Given the description of an element on the screen output the (x, y) to click on. 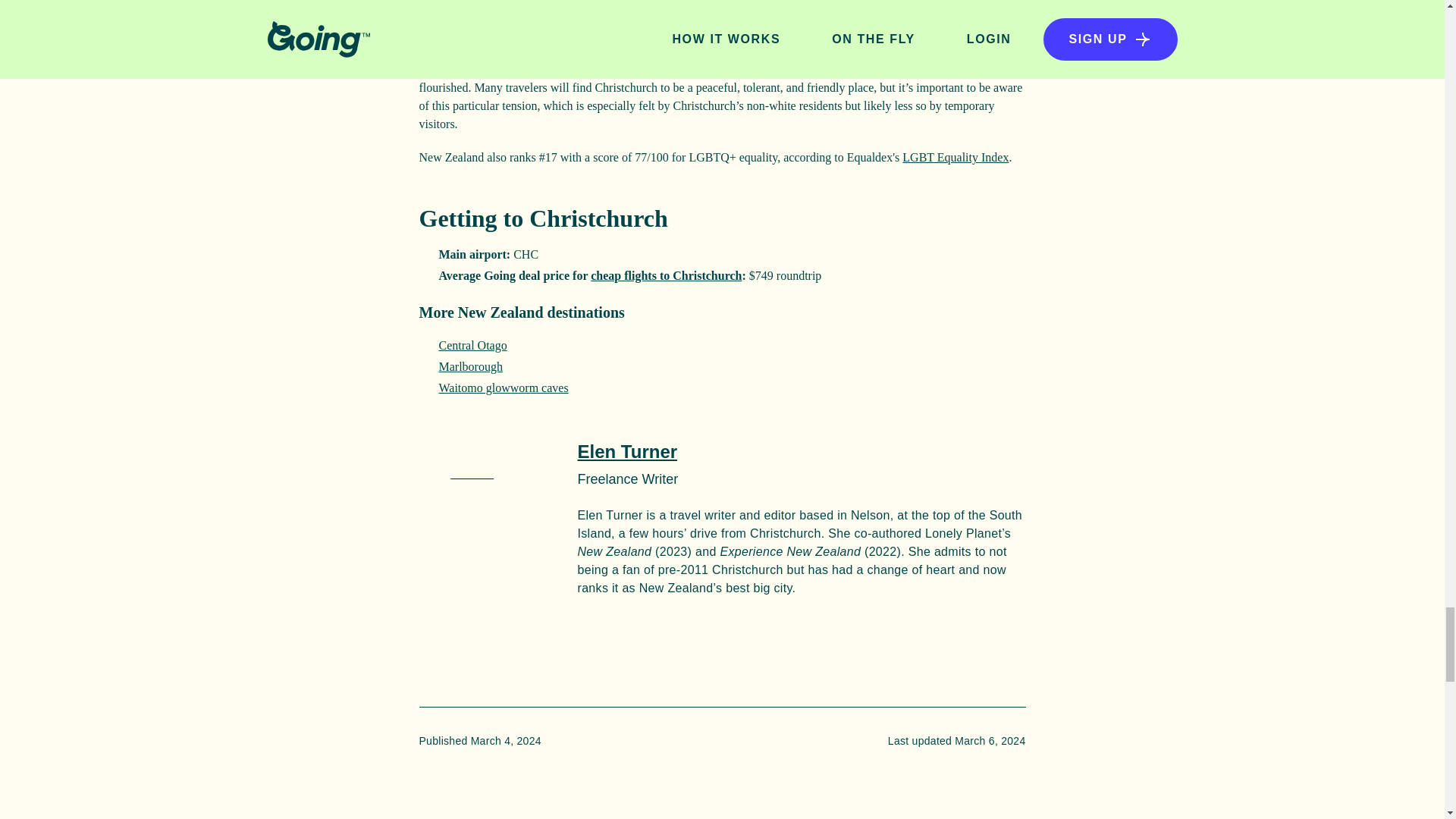
Global Peace Index (805, 2)
Central Otago (472, 345)
reputation (740, 69)
Waitomo glowworm caves (502, 387)
Elen Turner (628, 451)
cheap flights to Christchurch (666, 275)
LGBT Equality Index (955, 156)
Marlborough (470, 366)
